Given the description of an element on the screen output the (x, y) to click on. 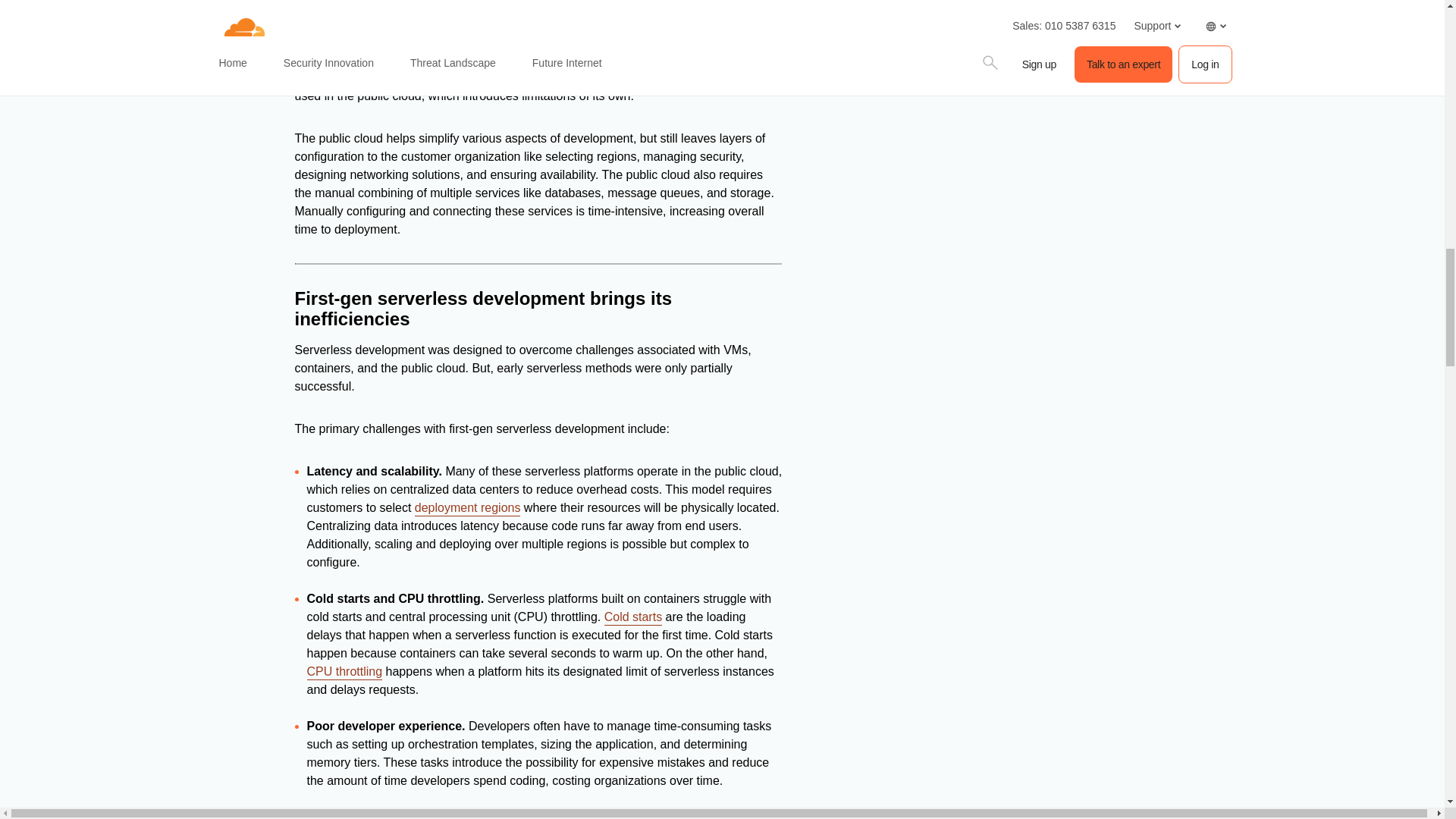
CPU throttling (343, 672)
require Kubernetes expertise (690, 3)
Cold starts (633, 617)
deployment regions (467, 508)
